Given the description of an element on the screen output the (x, y) to click on. 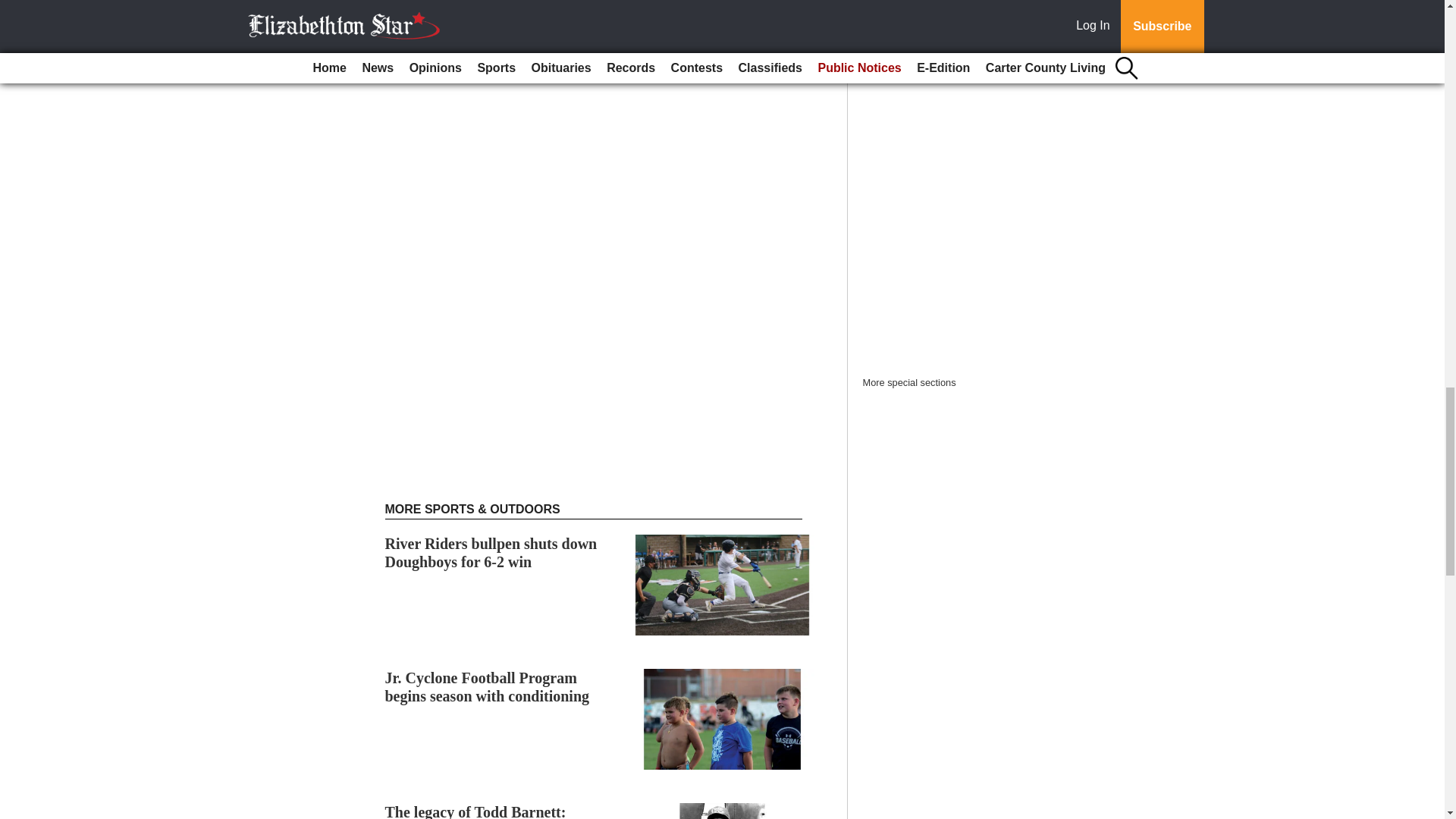
River Riders bullpen shuts down Doughboys for 6-2 win (490, 552)
Jr. Cyclone Football Program begins season with conditioning (487, 686)
More special sections (909, 382)
Jr. Cyclone Football Program begins season with conditioning (487, 686)
River Riders bullpen shuts down Doughboys for 6-2 win (490, 552)
